Given the description of an element on the screen output the (x, y) to click on. 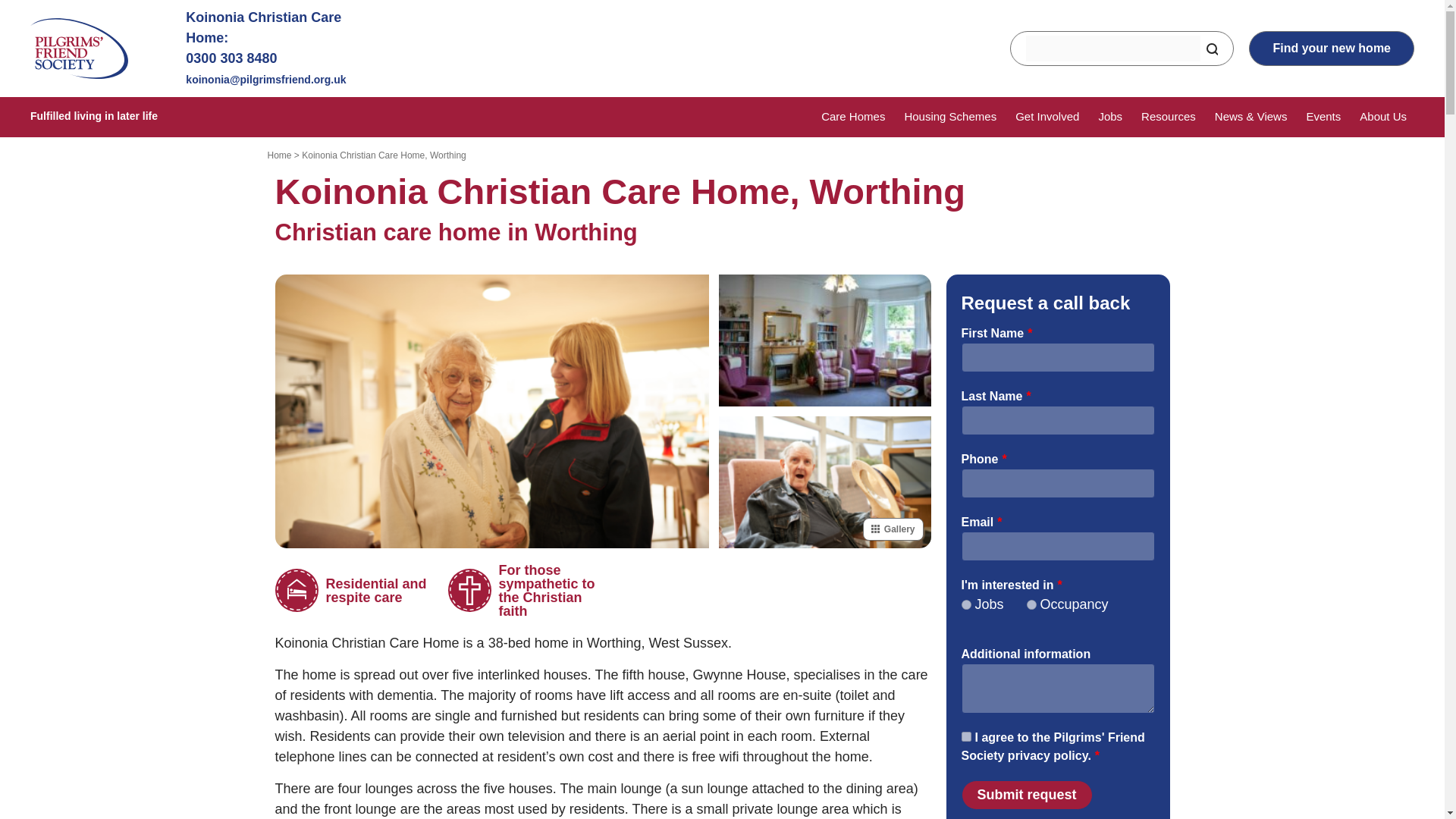
Find your new home (1331, 48)
Resources (1168, 117)
Care Homes (853, 117)
1 (965, 736)
0300 303 8480 (231, 58)
Get Involved (1046, 117)
Jobs (1109, 117)
Housing Schemes (949, 117)
